Given the description of an element on the screen output the (x, y) to click on. 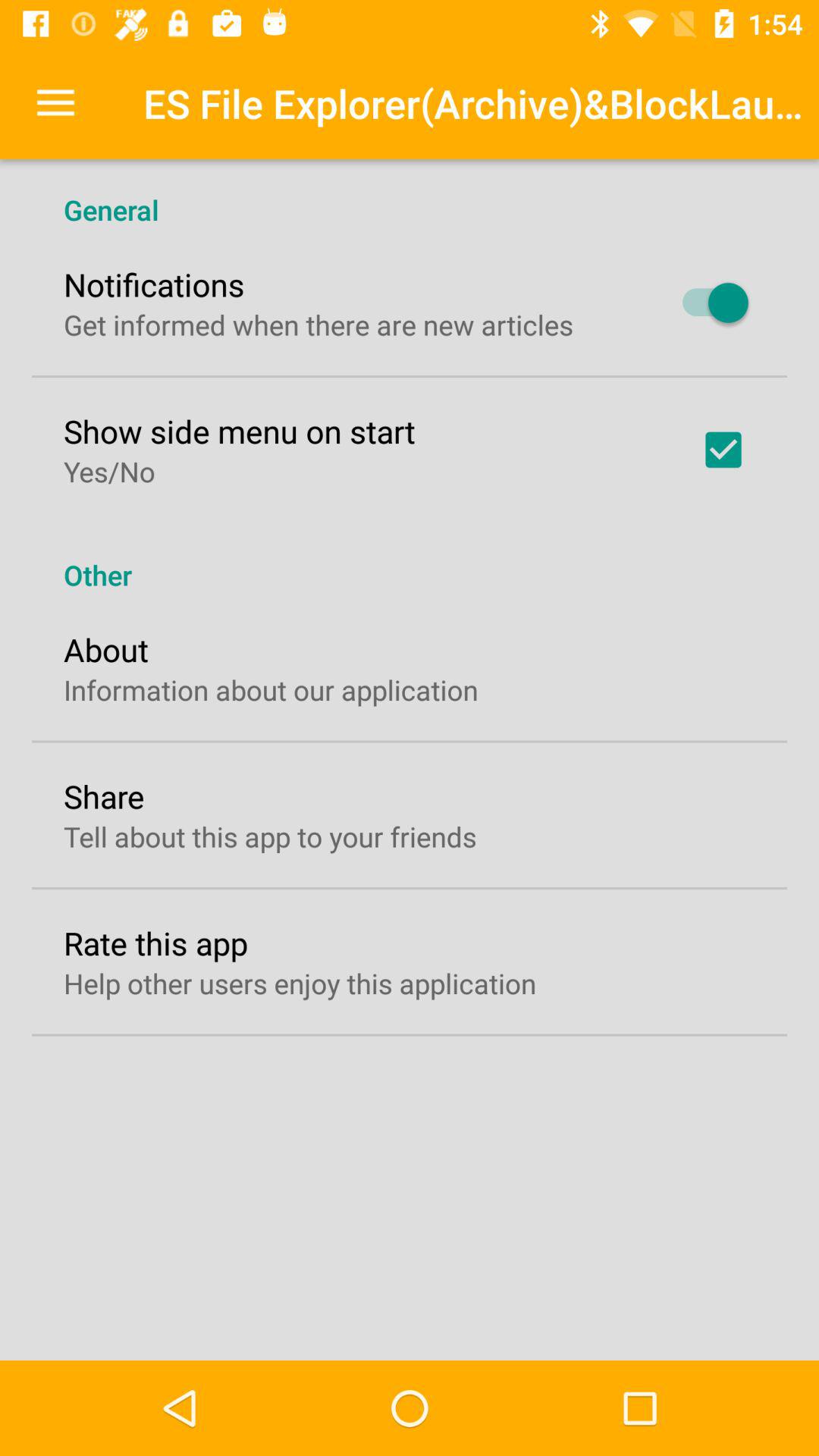
turn off item below the general icon (707, 302)
